Given the description of an element on the screen output the (x, y) to click on. 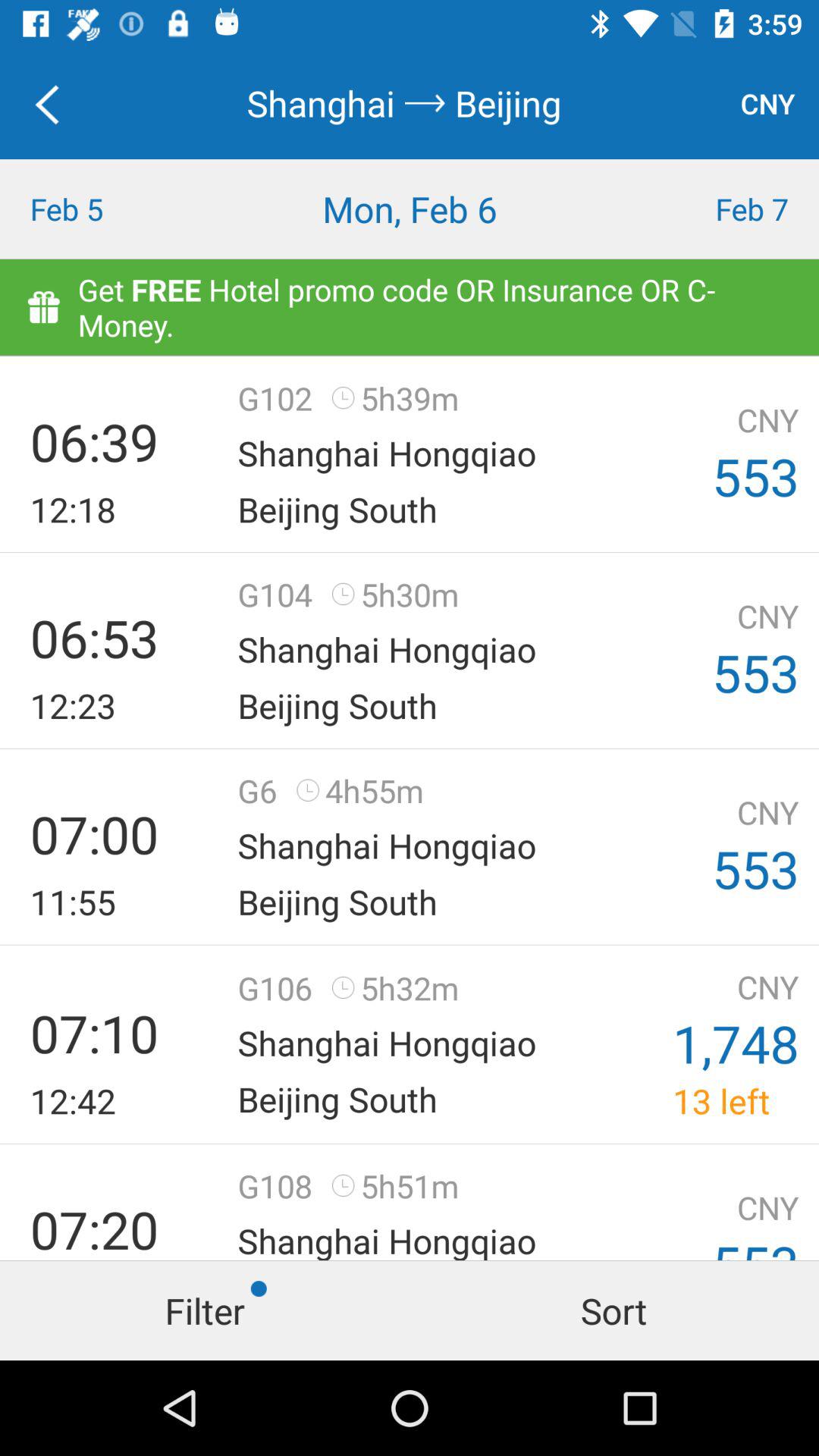
launch the item below the cny icon (716, 208)
